Given the description of an element on the screen output the (x, y) to click on. 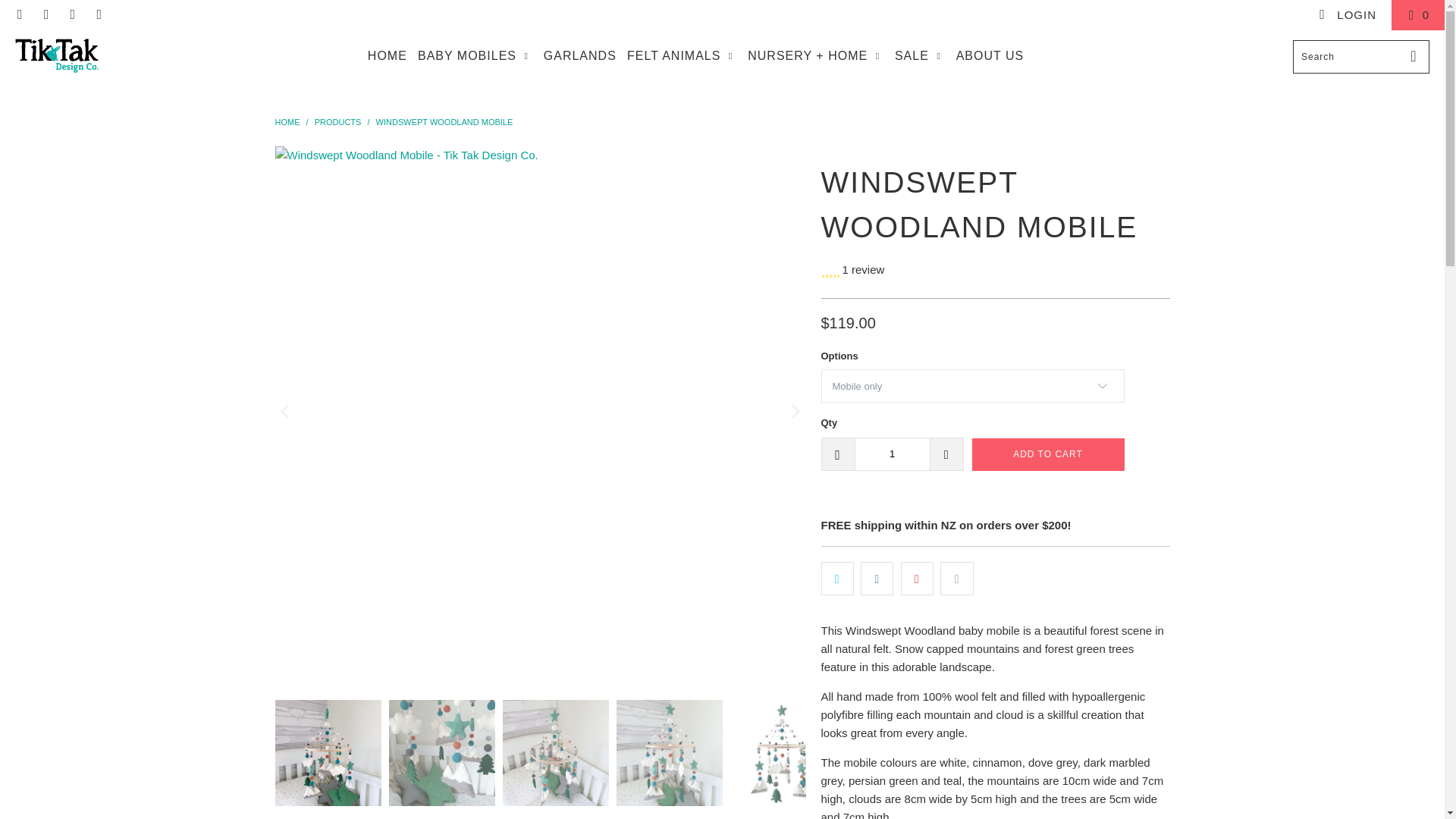
Email Tik Tak Design Co. (98, 14)
Tik Tak Design Co. on Instagram (72, 14)
Share this on Twitter (837, 578)
Share this on Pinterest (917, 578)
Tik Tak Design Co. (287, 121)
Products (337, 121)
My Account  (1346, 15)
Share this on Facebook (876, 578)
1 (891, 453)
Tik Tak Design Co. on Facebook (19, 14)
